Given the description of an element on the screen output the (x, y) to click on. 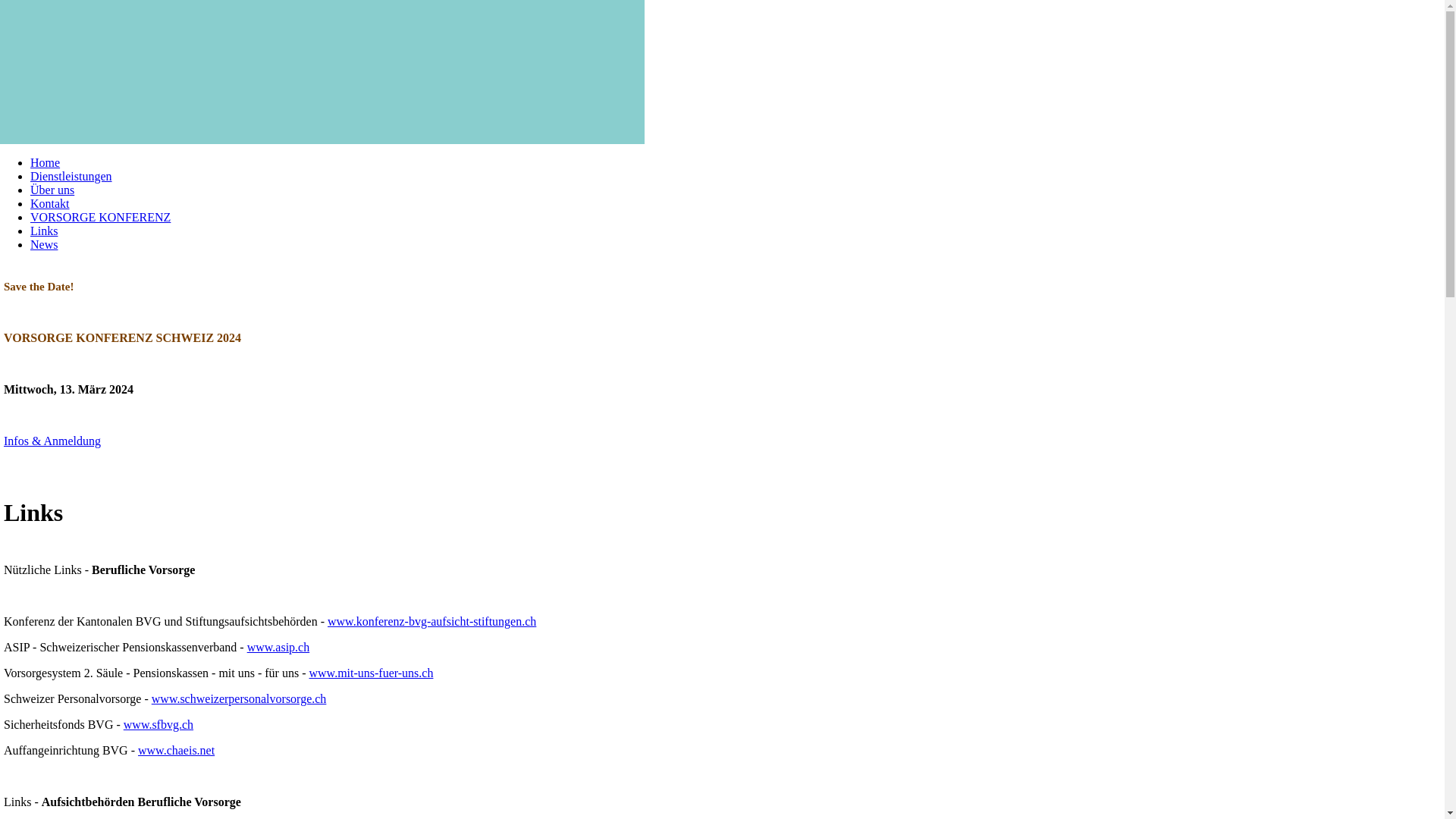
Home Element type: text (44, 162)
www.konferenz-bvg-aufsicht-stiftungen.ch Element type: text (431, 621)
www.chaeis.net Element type: text (176, 749)
News Element type: text (43, 244)
VORSORGE KONFERENZ Element type: text (100, 216)
www.sfbvg.ch Element type: text (158, 724)
Links Element type: text (43, 230)
Kontakt Element type: text (49, 203)
Infos & Anmeldung Element type: text (51, 440)
Dienstleistungen Element type: text (71, 175)
www.asip.ch Element type: text (278, 646)
www.mit-uns-fuer-uns.ch Element type: text (371, 672)
www.schweizerpersonalvorsorge.ch Element type: text (238, 698)
